Given the description of an element on the screen output the (x, y) to click on. 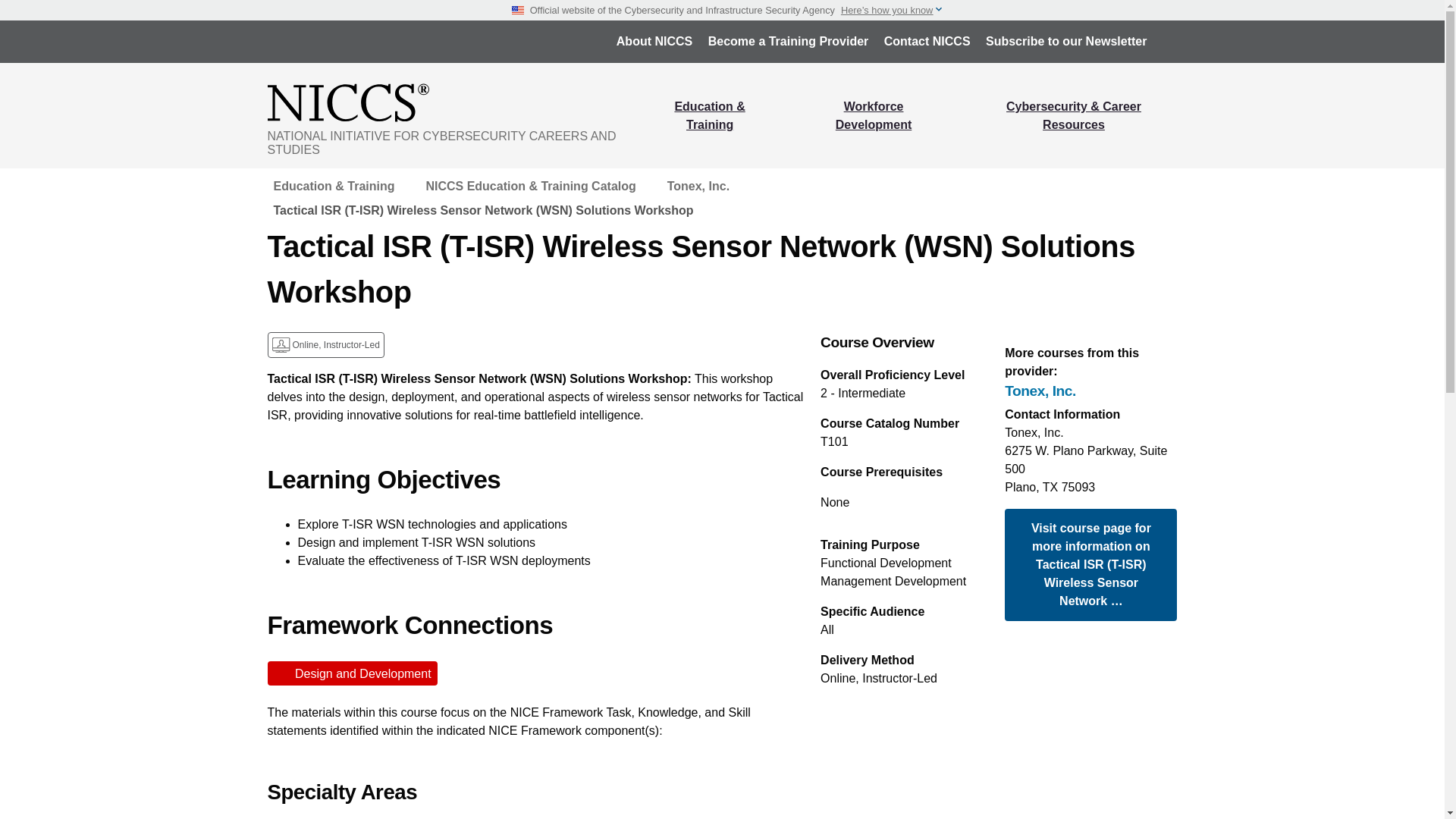
About NICCS (654, 41)
Contact NICCS (926, 41)
Tonex, Inc. (698, 186)
Become a Training Provider (788, 41)
National Initiative for Cybersecurity Careers and Studies (454, 102)
Subscribe to our Newsletter (1066, 41)
More courses from Tonex, Inc. (1090, 391)
About NICCS (654, 41)
Tonex, Inc. (1090, 391)
